Given the description of an element on the screen output the (x, y) to click on. 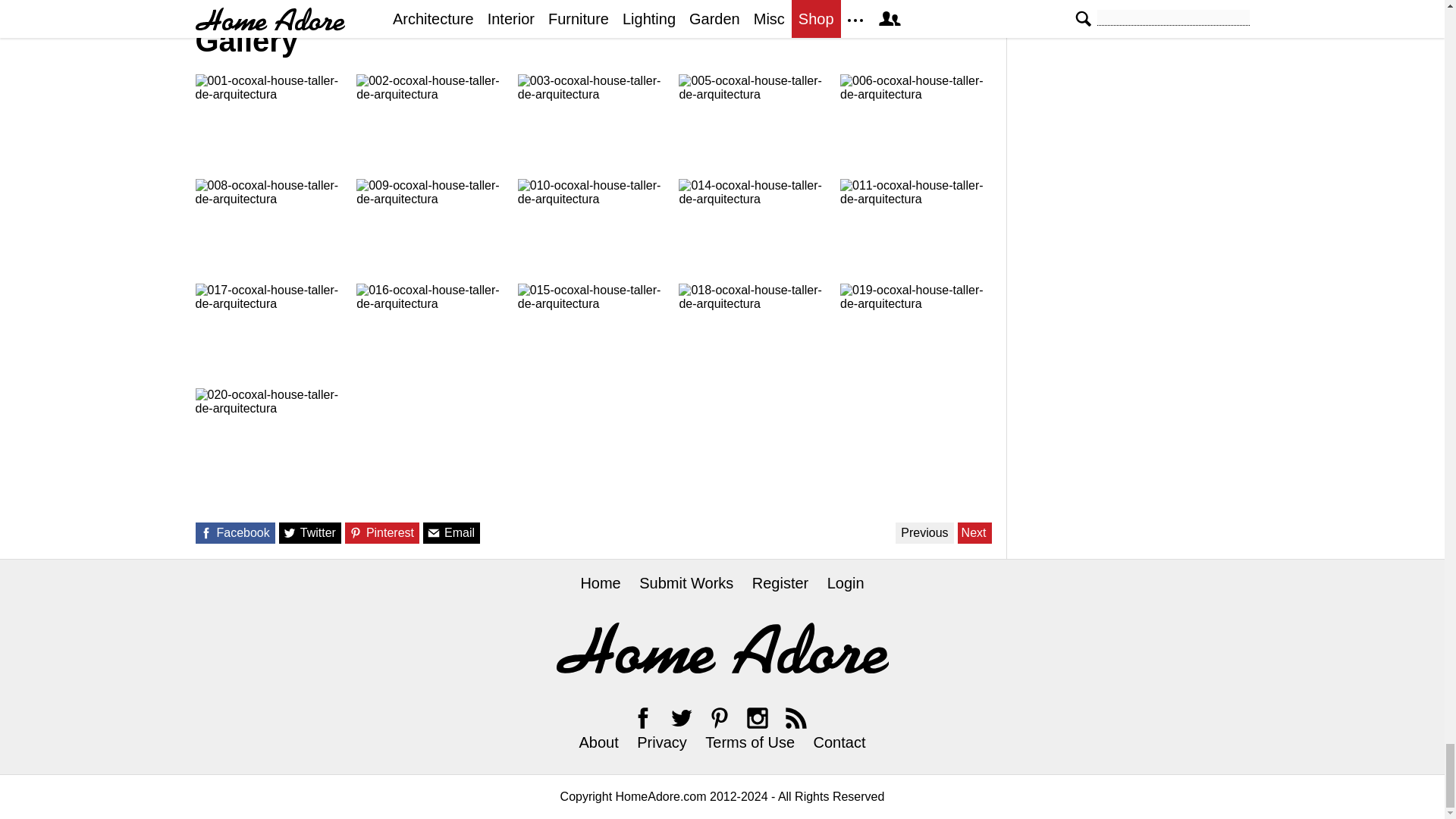
HomeAdore (722, 648)
Share on Pinterest (355, 532)
Facebook (643, 718)
Share on Twitter (289, 532)
Twitter (681, 718)
Share with a Friend (433, 532)
Share on Facebook (205, 532)
